Given the description of an element on the screen output the (x, y) to click on. 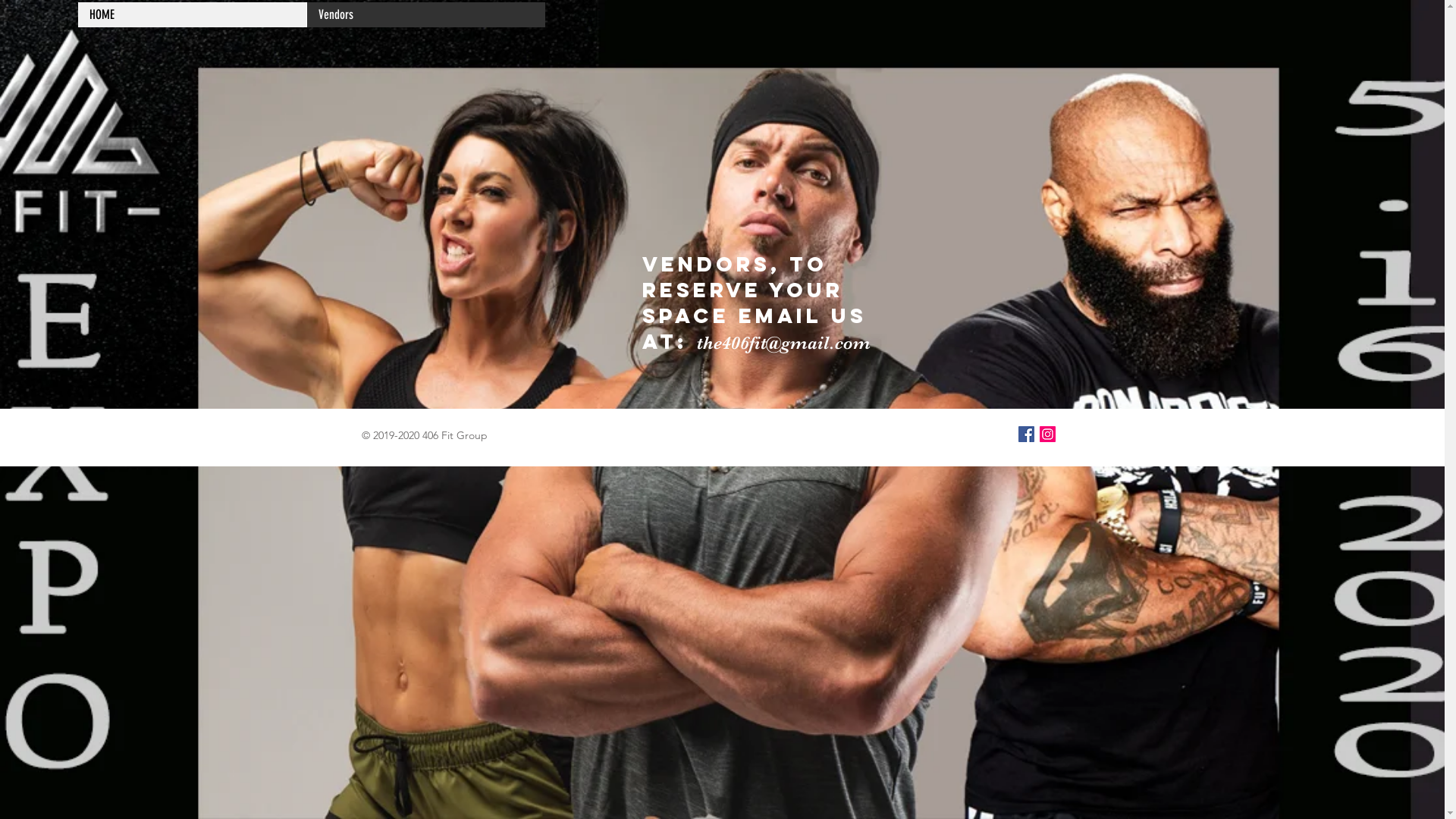
Vendors Element type: text (425, 14)
the406fit@gmail.com Element type: text (782, 342)
HOME Element type: text (192, 14)
